Given the description of an element on the screen output the (x, y) to click on. 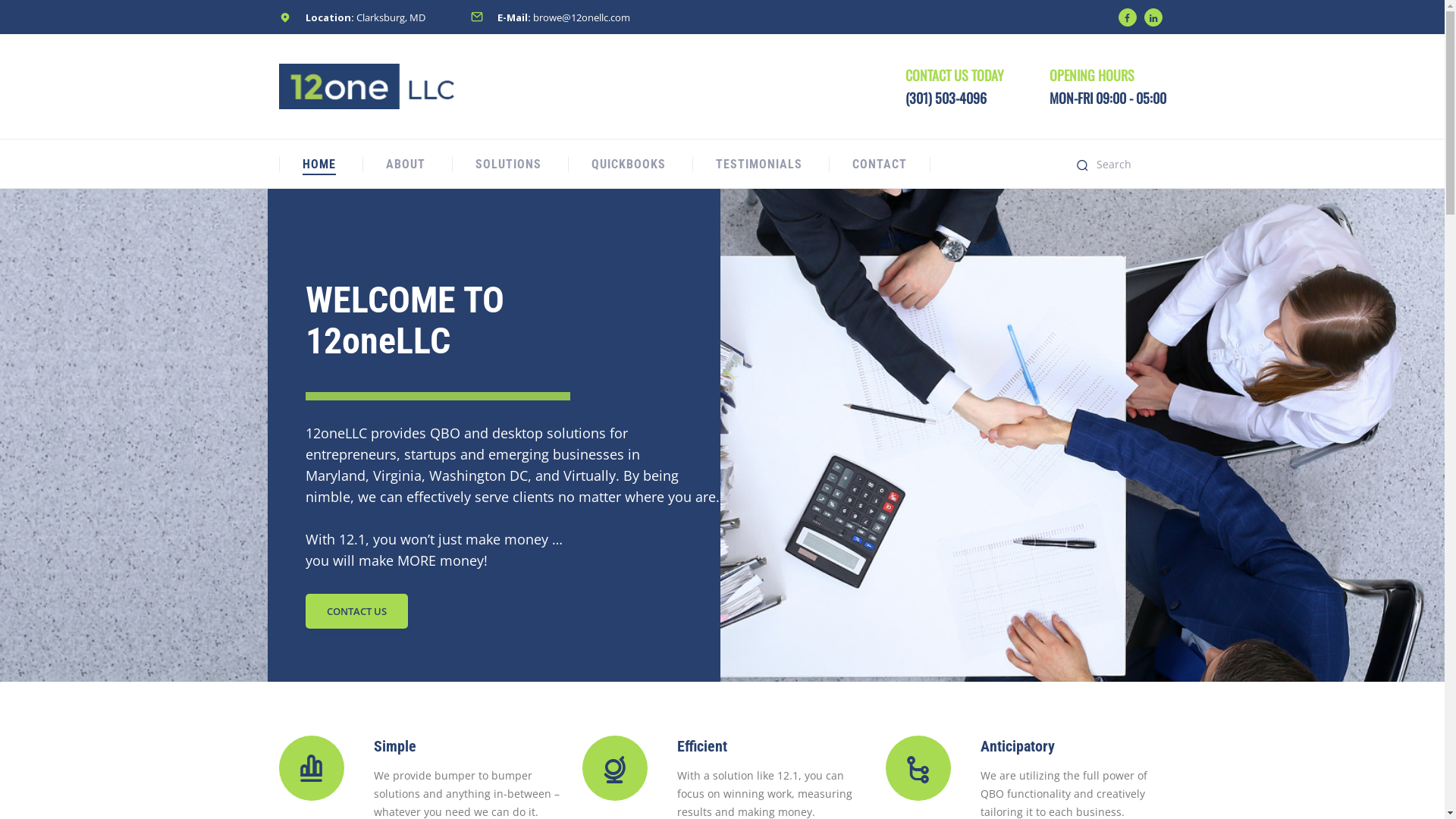
CONTACT Element type: text (879, 163)
SOLUTIONS Element type: text (507, 163)
TESTIMONIALS Element type: text (758, 163)
ABOUT Element type: text (404, 163)
QUICKBOOKS Element type: text (628, 163)
Location: Clarksburg, MD Element type: text (352, 16)
Simple Element type: text (394, 746)
HOME Element type: text (318, 163)
Anticipatory Element type: text (1016, 746)
E-Mail: browe@12onellc.com Element type: text (549, 16)
Efficient Element type: text (701, 746)
CONTACT US Element type: text (355, 610)
